Given the description of an element on the screen output the (x, y) to click on. 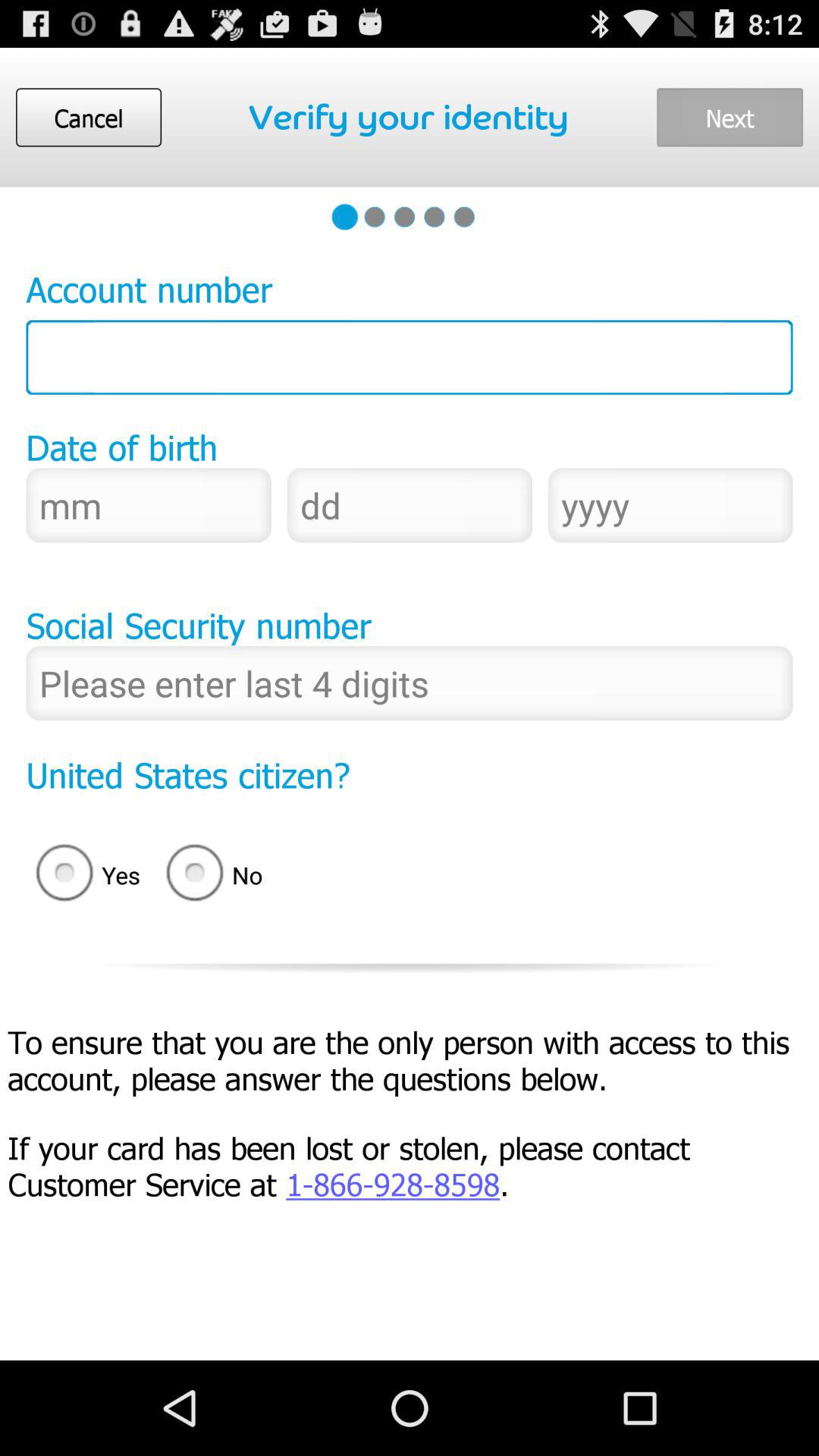
turn off cancel (88, 117)
